Given the description of an element on the screen output the (x, y) to click on. 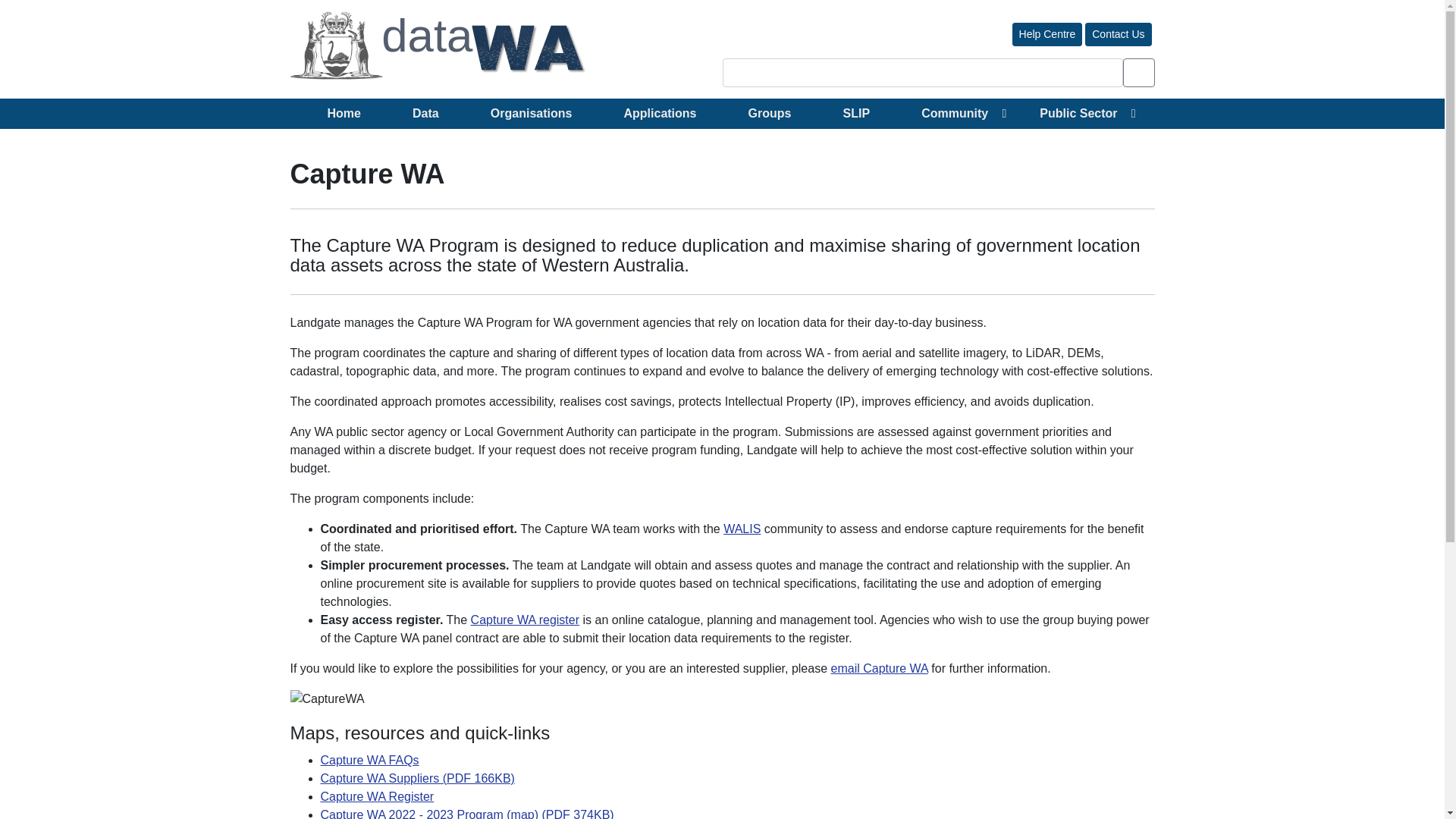
Capture WA Register (376, 796)
Applications (659, 113)
Contact Us (1117, 33)
Groups (769, 113)
SLIP (856, 113)
Help Centre (1047, 33)
WALIS (741, 528)
Search (1138, 72)
Organisations (531, 113)
Public Sector (1077, 113)
Help Centre (1047, 33)
Groups (769, 113)
Applications (659, 113)
Dataset (425, 113)
Public Sector (1077, 113)
